Given the description of an element on the screen output the (x, y) to click on. 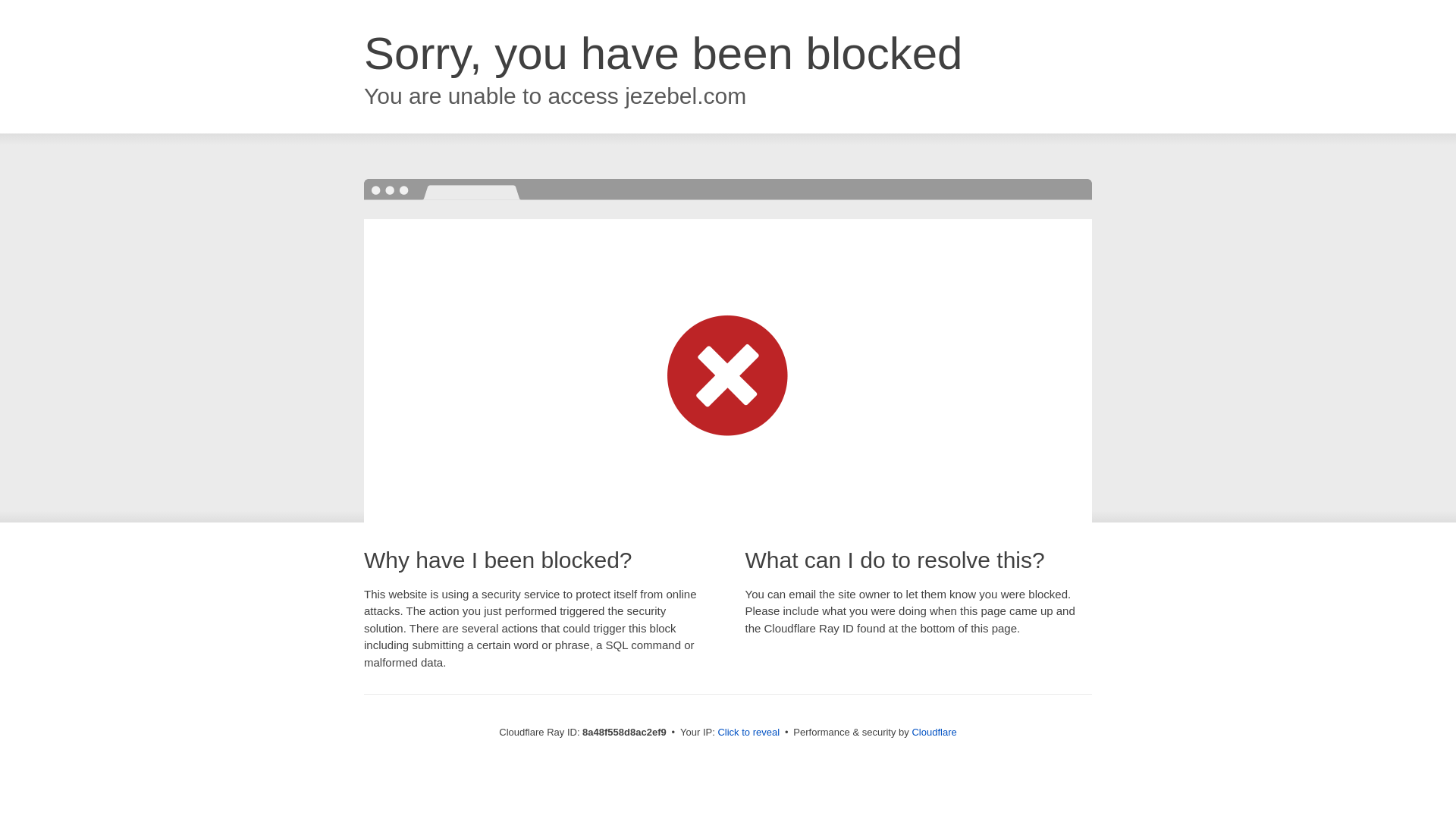
Cloudflare (933, 731)
Click to reveal (747, 732)
